Given the description of an element on the screen output the (x, y) to click on. 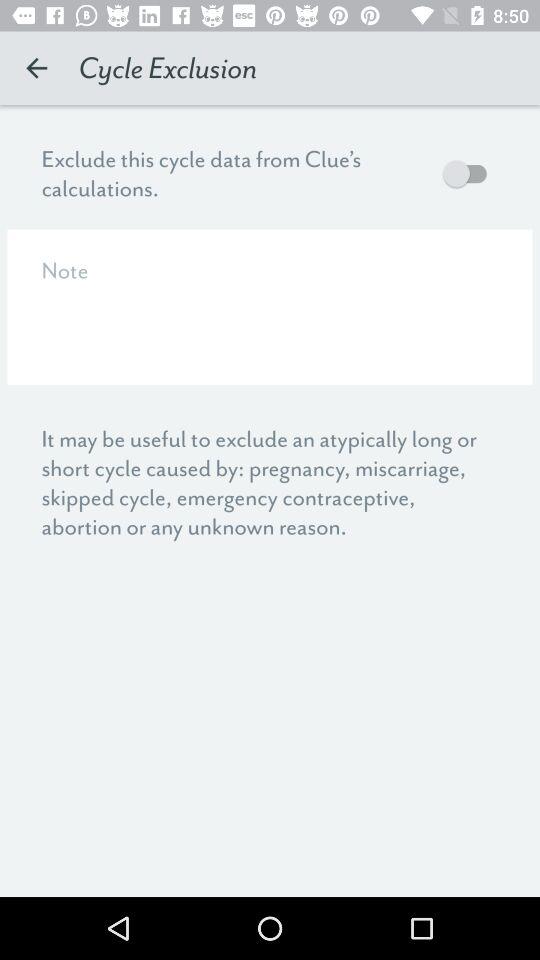
open the app to the right of the exclude this cycle app (469, 173)
